Given the description of an element on the screen output the (x, y) to click on. 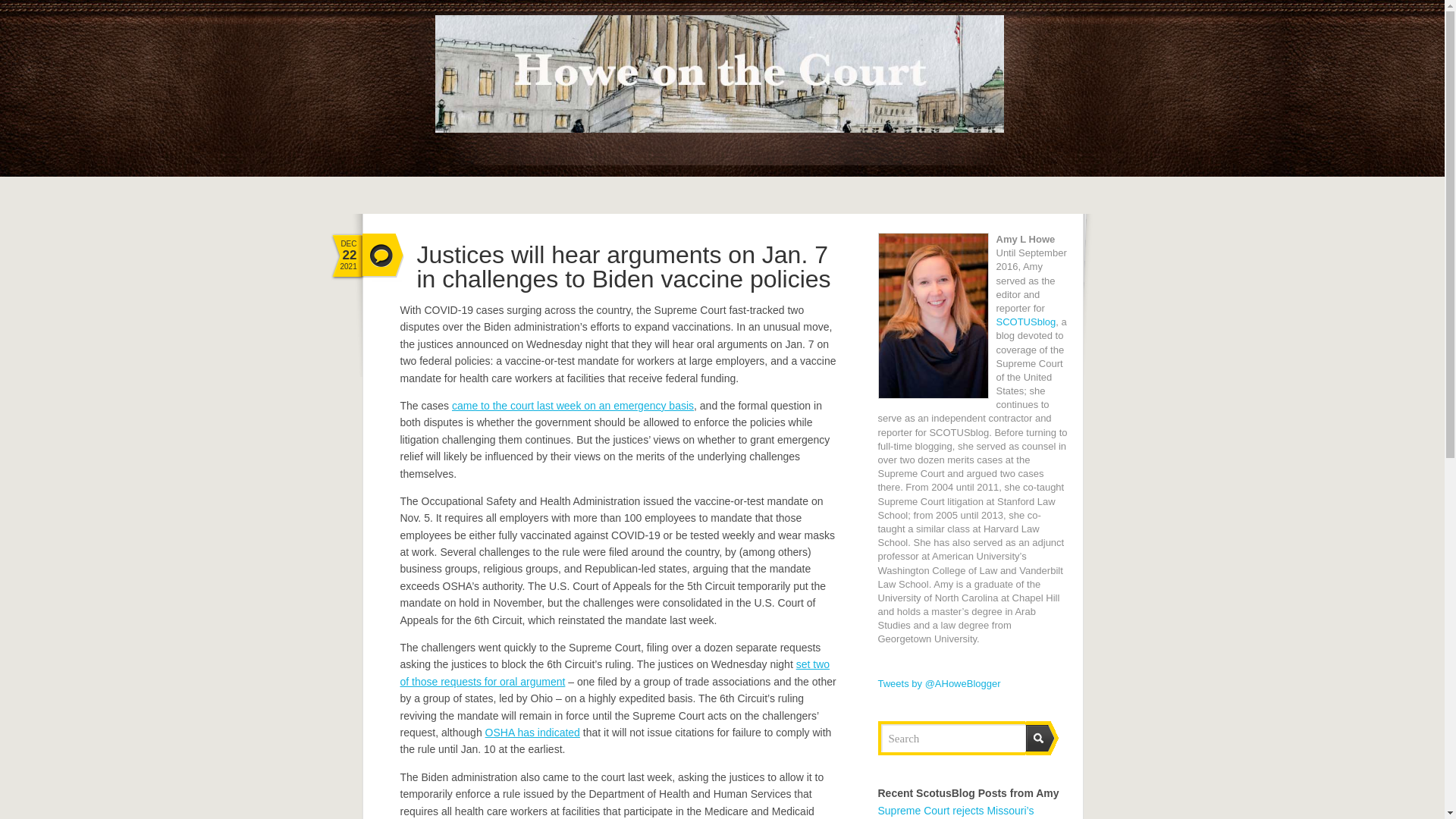
came to the court last week on an emergency basis (572, 405)
OSHA has indicated (531, 732)
Submit (1042, 738)
Submit (1042, 738)
set two of those requests for oral argument (614, 672)
SCOTUSblog (1026, 321)
Search (951, 738)
